Given the description of an element on the screen output the (x, y) to click on. 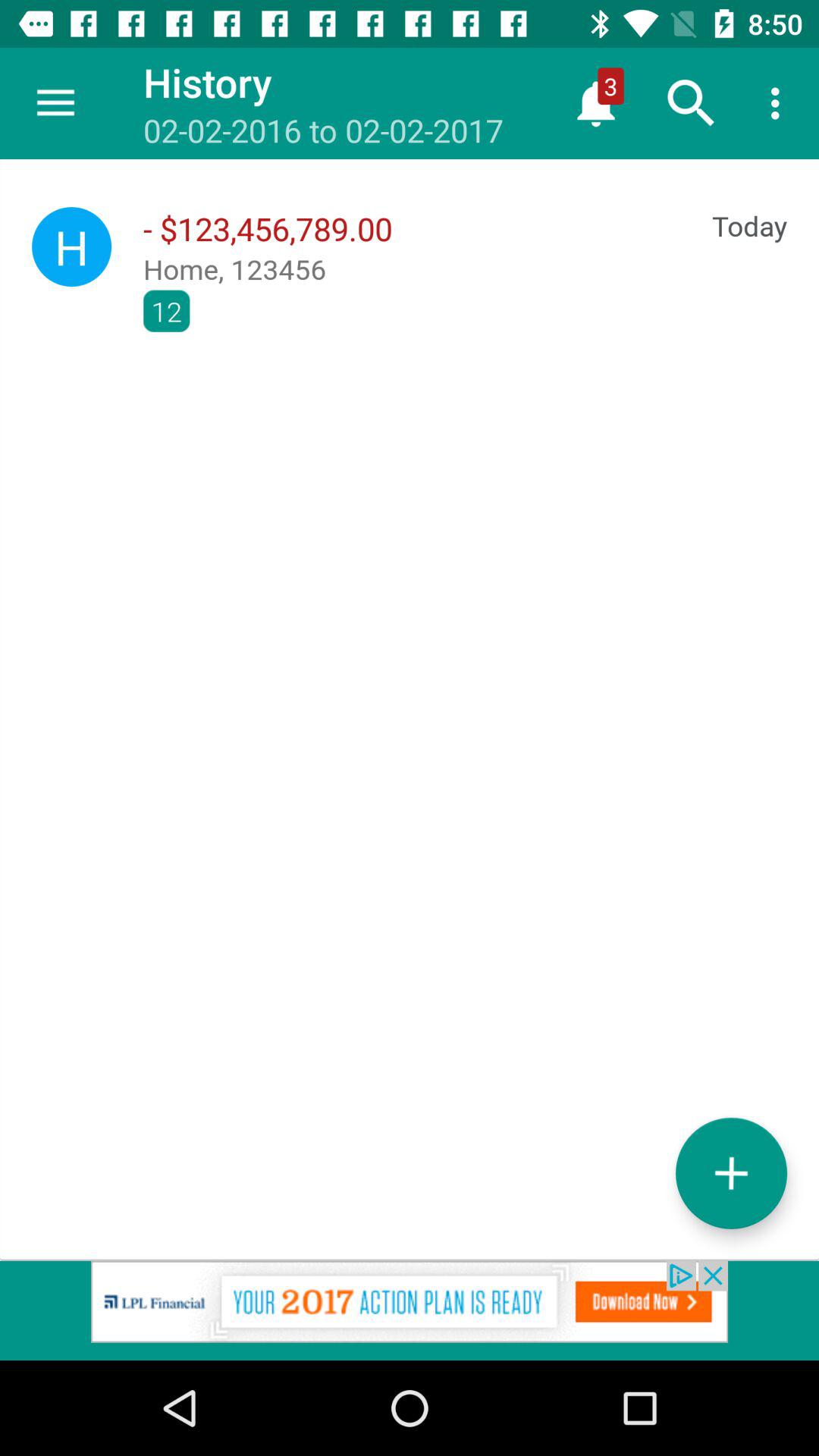
add expense entry (731, 1173)
